Given the description of an element on the screen output the (x, y) to click on. 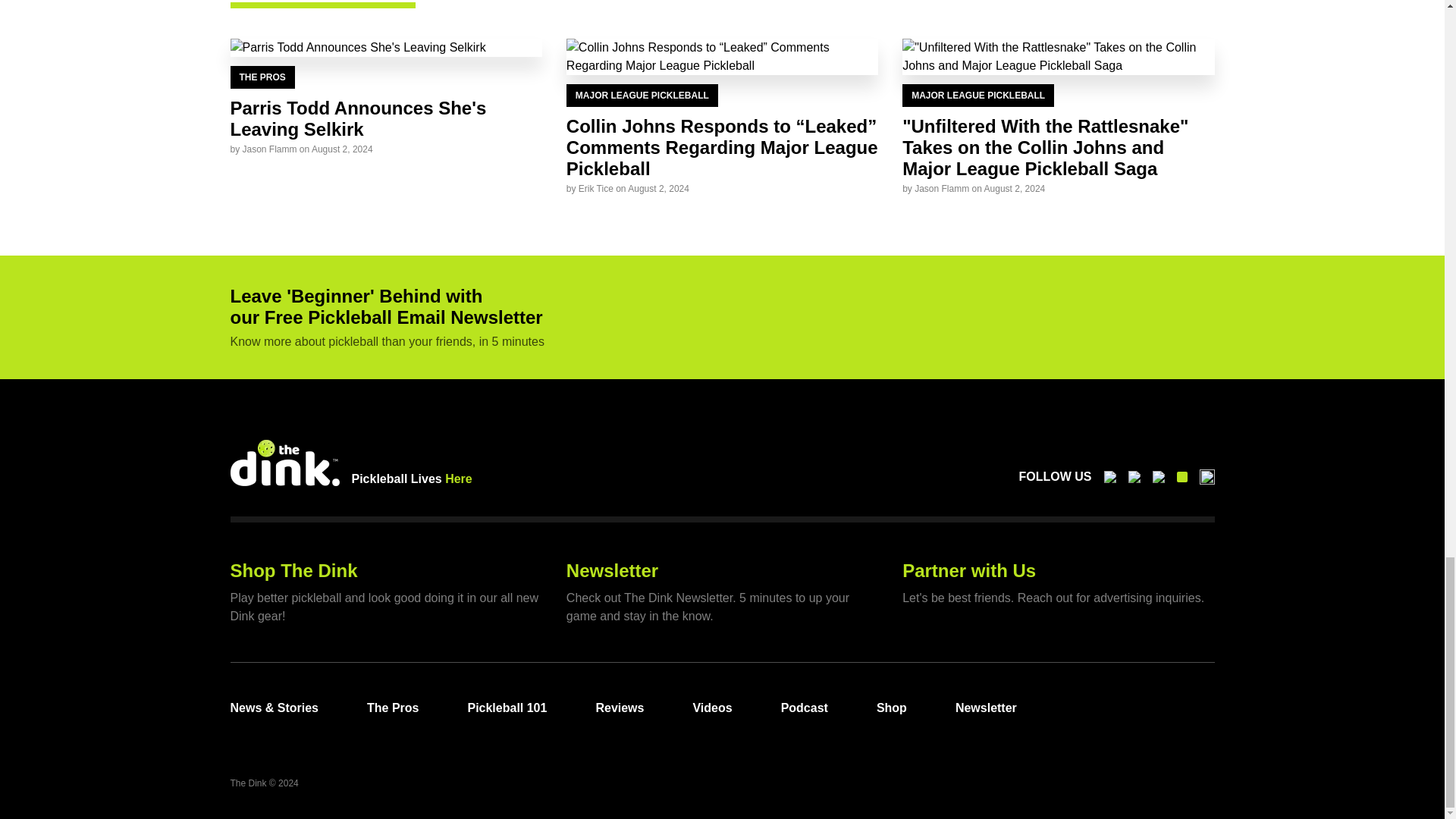
Reviews (619, 708)
Pickleball 101 (507, 708)
Shop The Dink (294, 570)
Newsletter (612, 570)
Partner with Us (968, 570)
The Pros (392, 708)
